Given the description of an element on the screen output the (x, y) to click on. 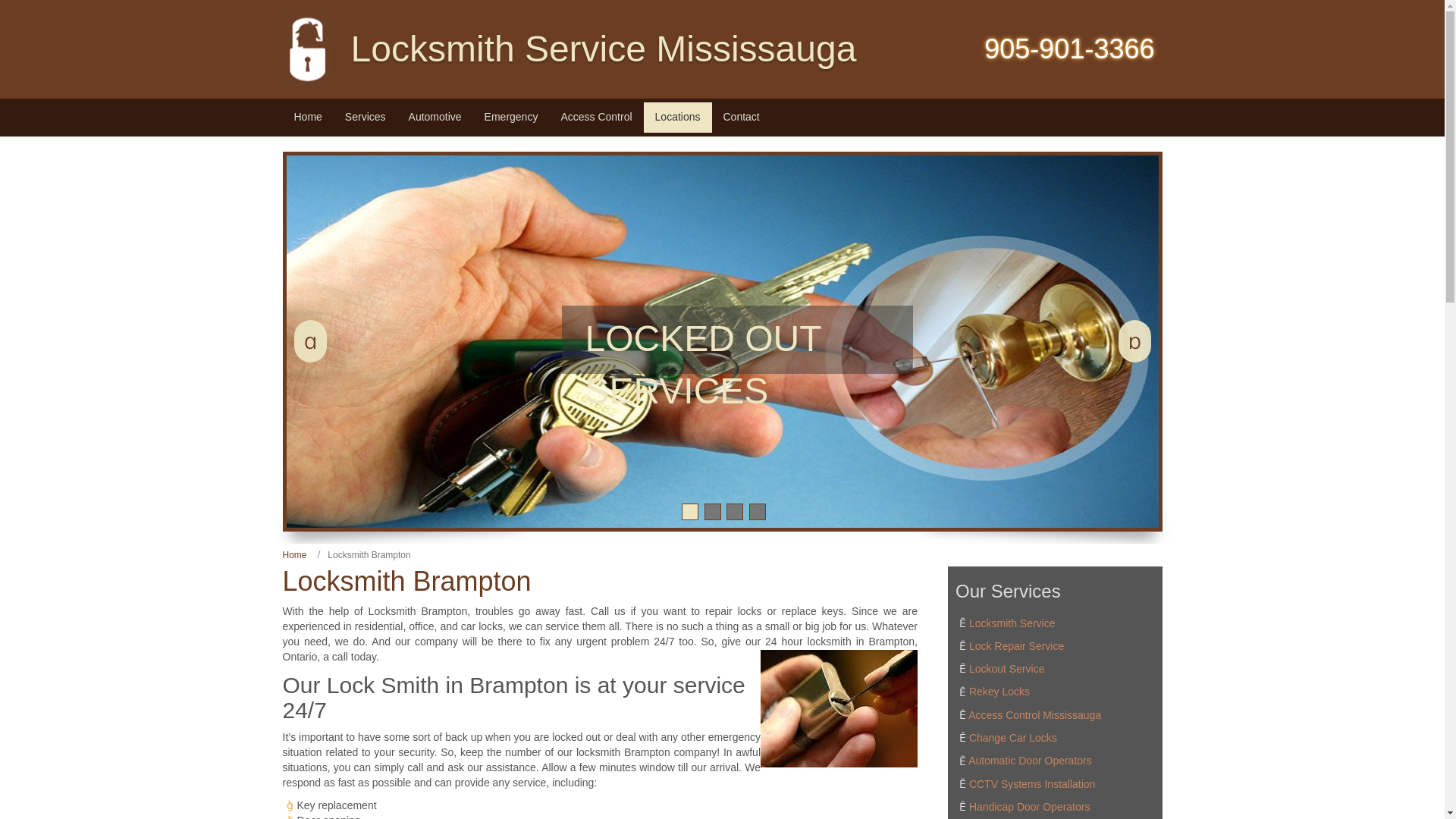
Emergency (511, 117)
905-901-3366 (1069, 48)
Services (365, 117)
Home (307, 117)
Access Control (595, 117)
Automotive (435, 117)
